Given the description of an element on the screen output the (x, y) to click on. 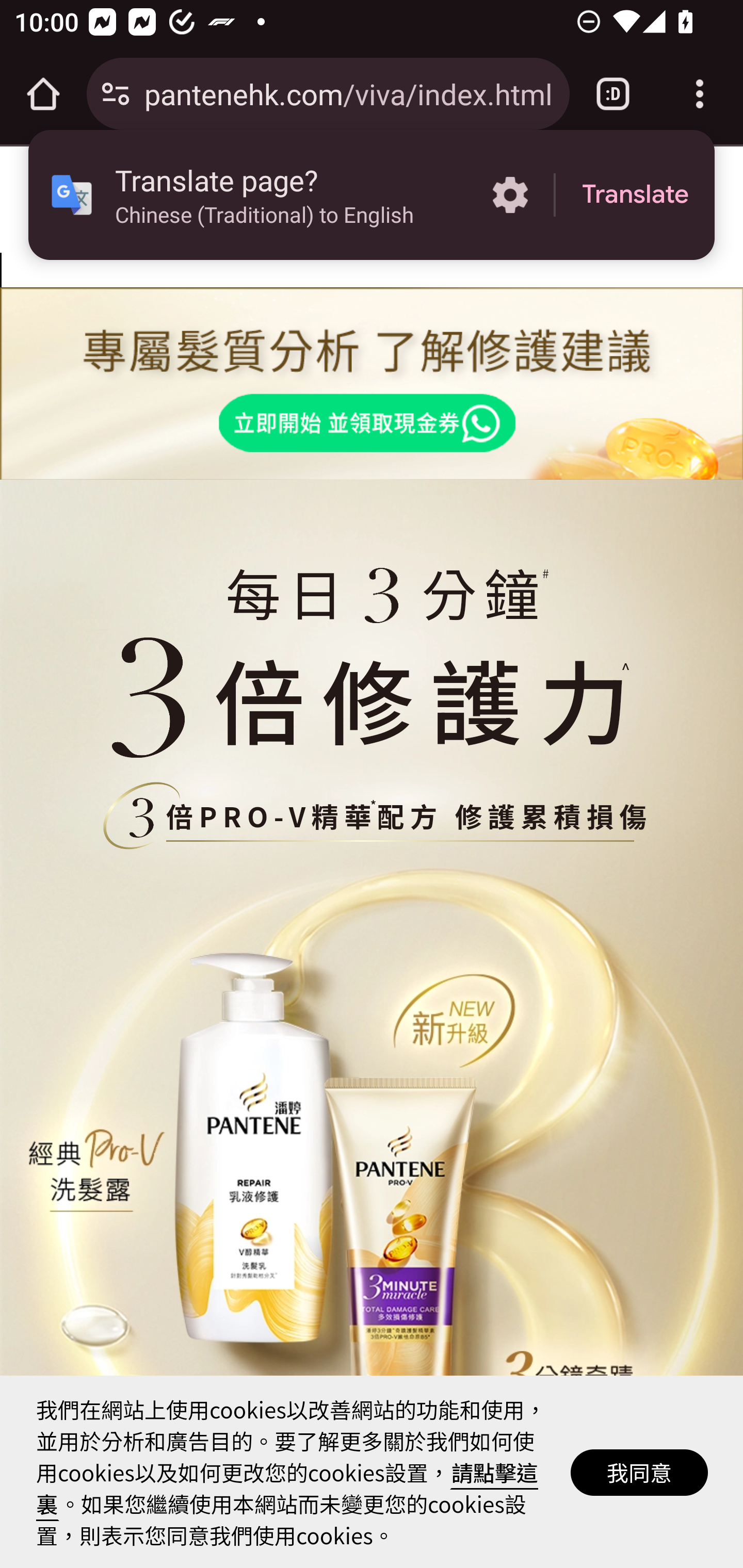
Open the home page (43, 93)
Connection is secure (115, 93)
Switch or close tabs (612, 93)
Customize and control Google Chrome (699, 93)
pantenehk.com/viva/index.html (349, 92)
Translate (634, 195)
More options in the Translate page? (509, 195)
coupon_mb (371, 384)
髮の神仙水系列 (371, 817)
我同意 (639, 1471)
請點擊這裏 (286, 1487)
